Given the description of an element on the screen output the (x, y) to click on. 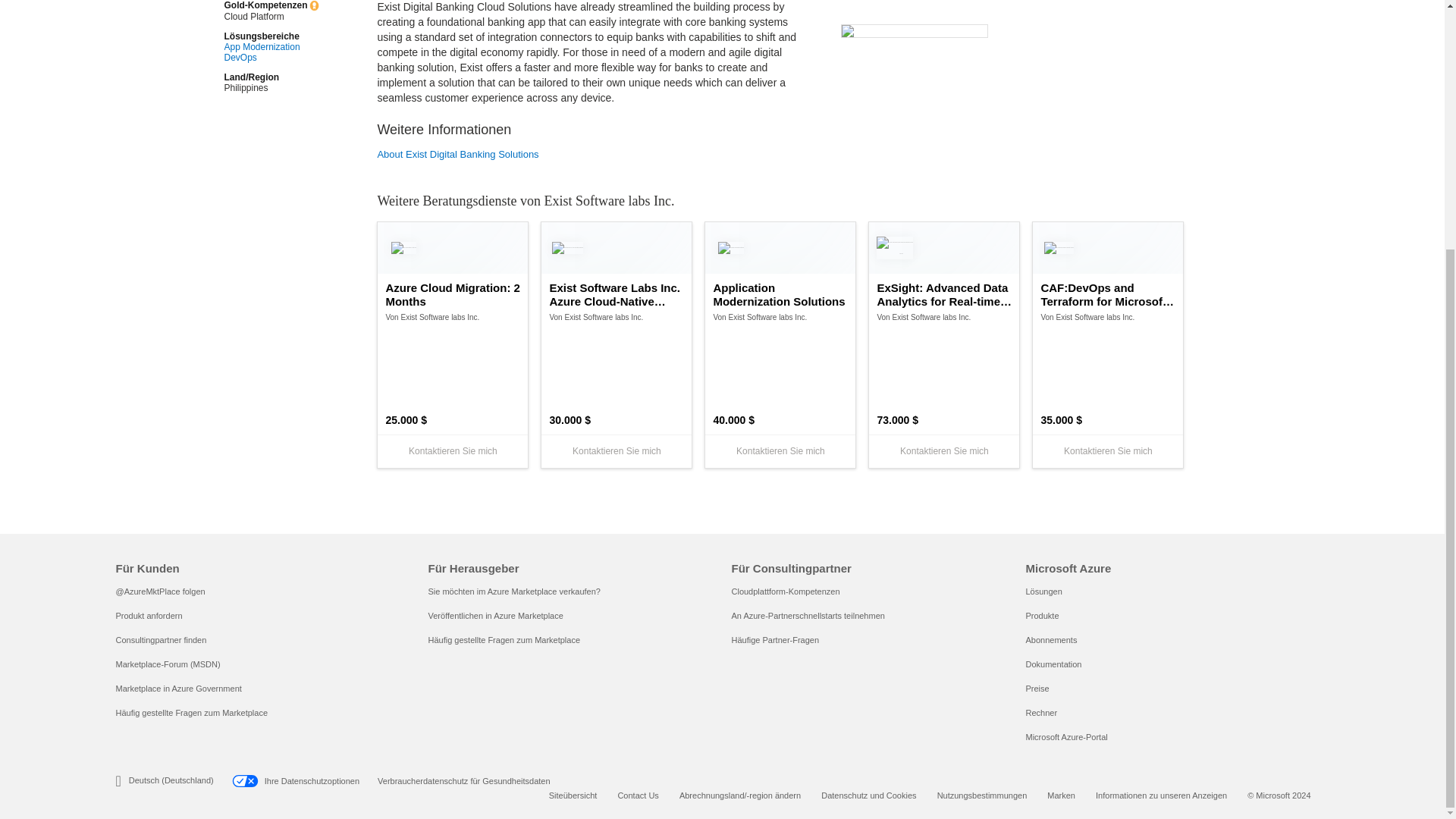
Azure Cloud Migration: 2 Months (452, 294)
Application Modernization Solutions (780, 294)
Exist Software Labs Inc. Azure Cloud-Native Services (616, 294)
CAF:DevOps and Terraform for Microsoft Azure (1107, 294)
